Given the description of an element on the screen output the (x, y) to click on. 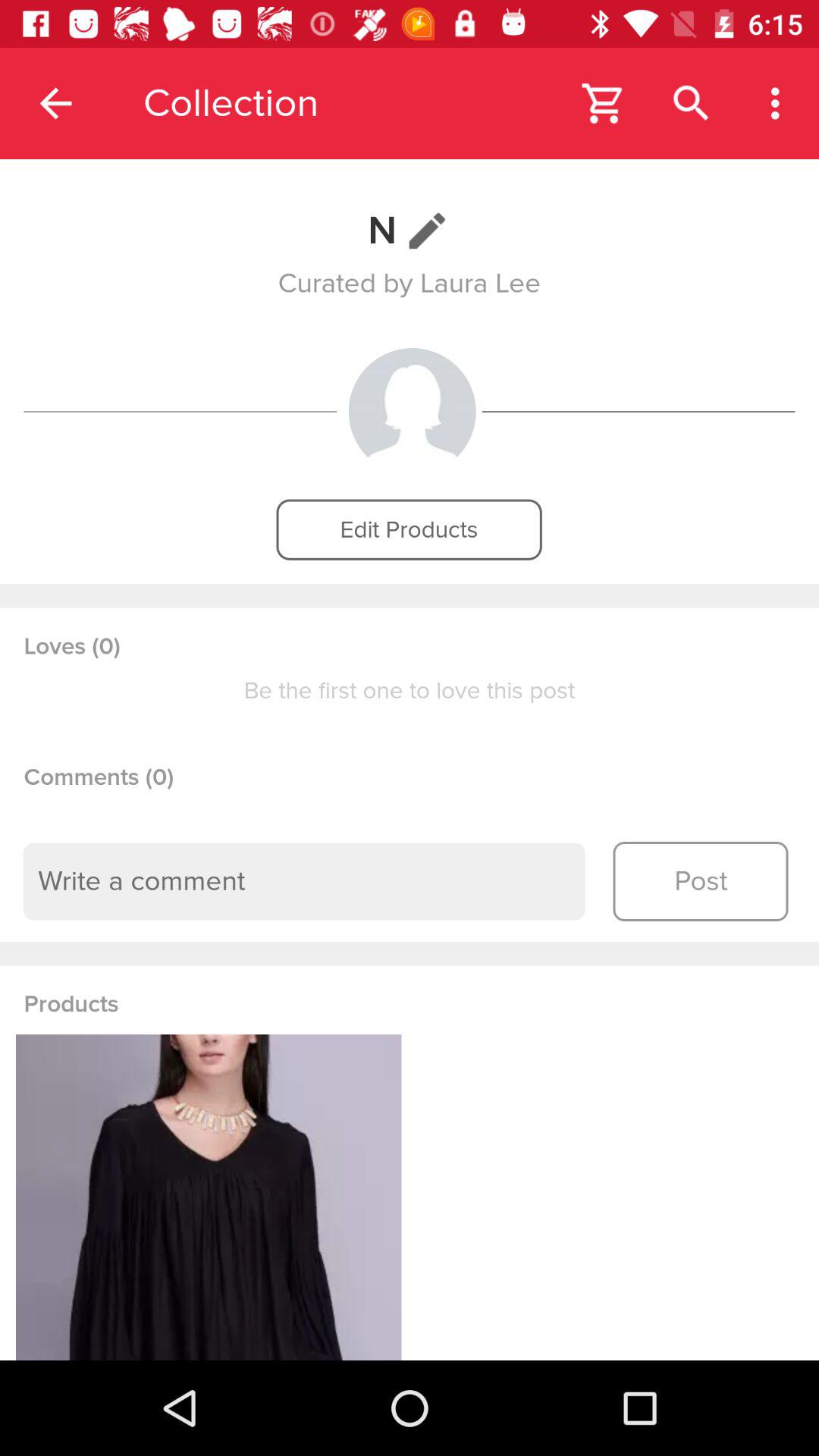
view shopping cart (603, 103)
